Given the description of an element on the screen output the (x, y) to click on. 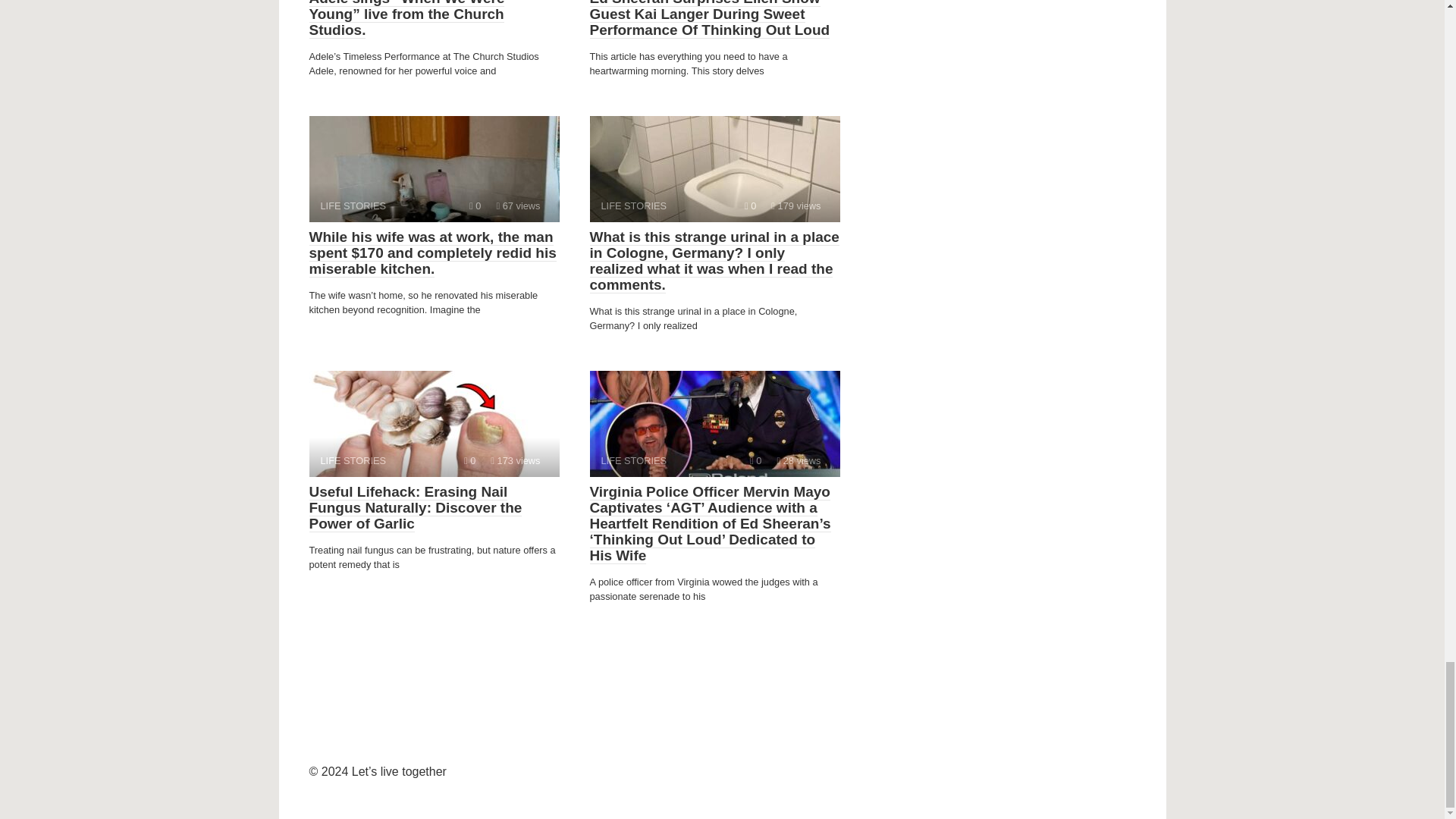
Views (433, 168)
Comments (518, 205)
Views (714, 168)
Comments (714, 423)
